Given the description of an element on the screen output the (x, y) to click on. 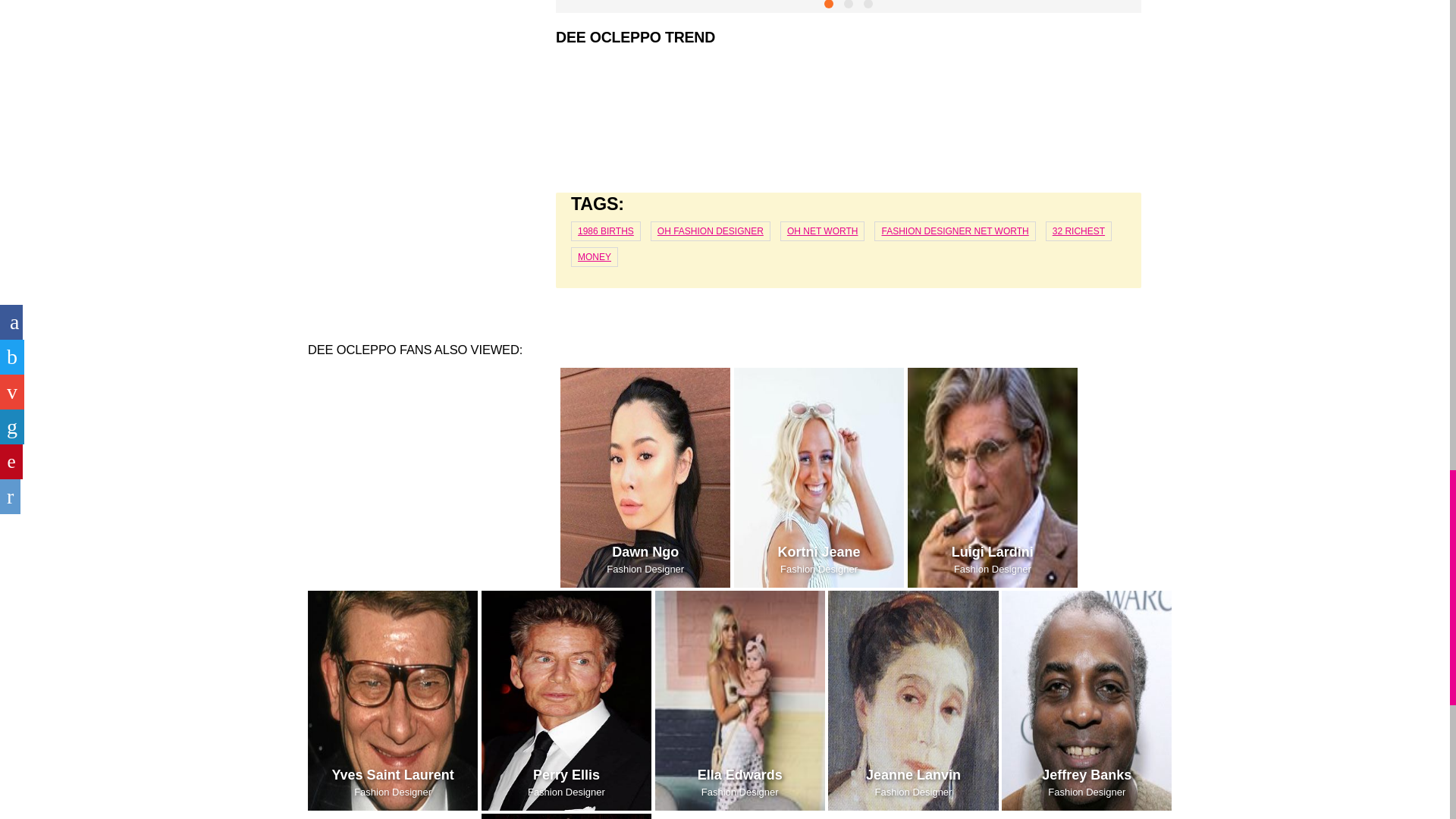
trends-widget-1 (848, 115)
